Given the description of an element on the screen output the (x, y) to click on. 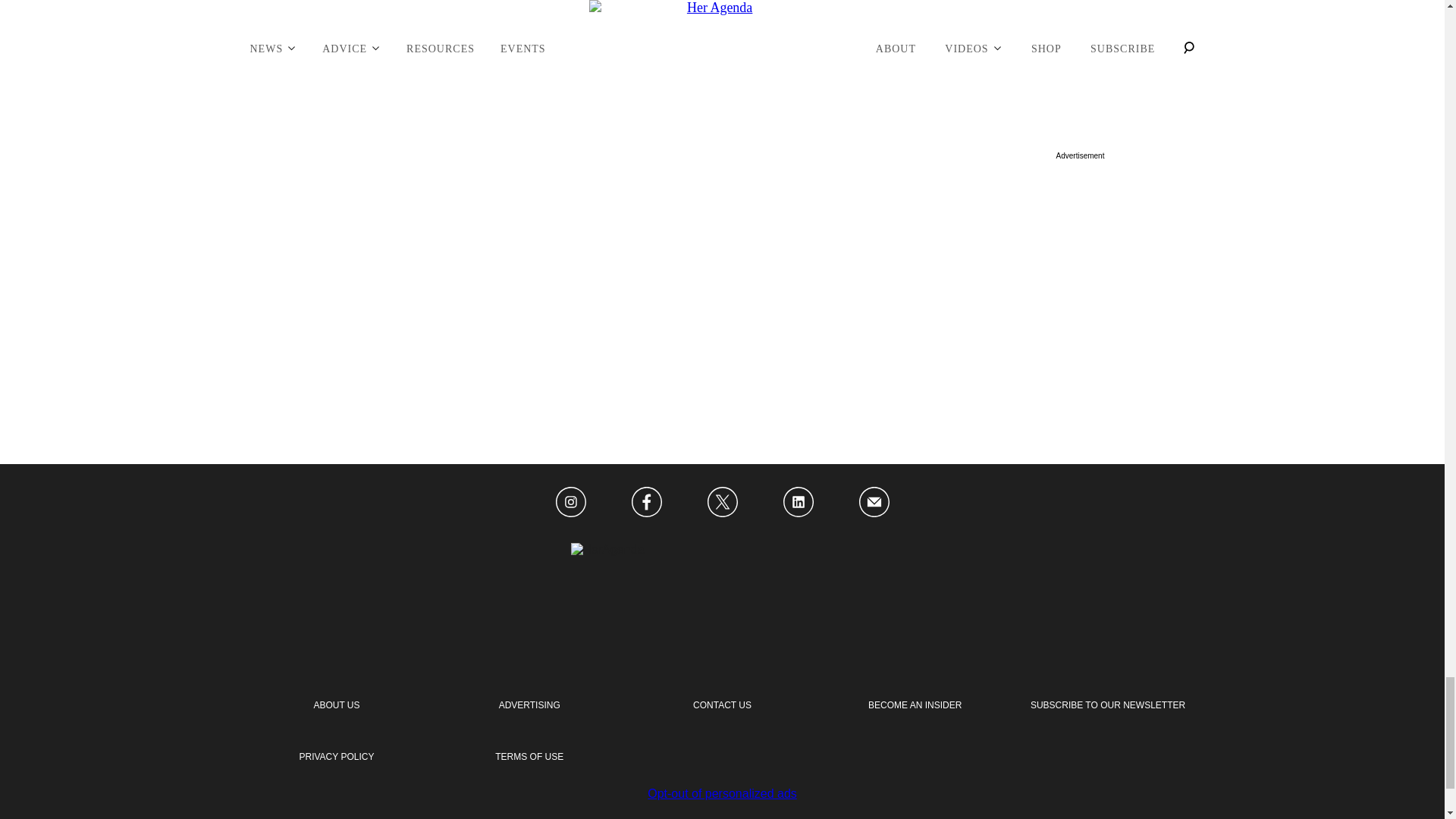
About Us (336, 705)
Contact Us (722, 705)
Link to X (721, 503)
Advertising (529, 705)
Link to LinkedIn (797, 503)
Link to Email (873, 503)
Link to Facebook (645, 503)
Become an Insider (913, 705)
Newsletter signup (1107, 705)
Newsletter signup (336, 756)
Link to Instagram (569, 503)
